Given the description of an element on the screen output the (x, y) to click on. 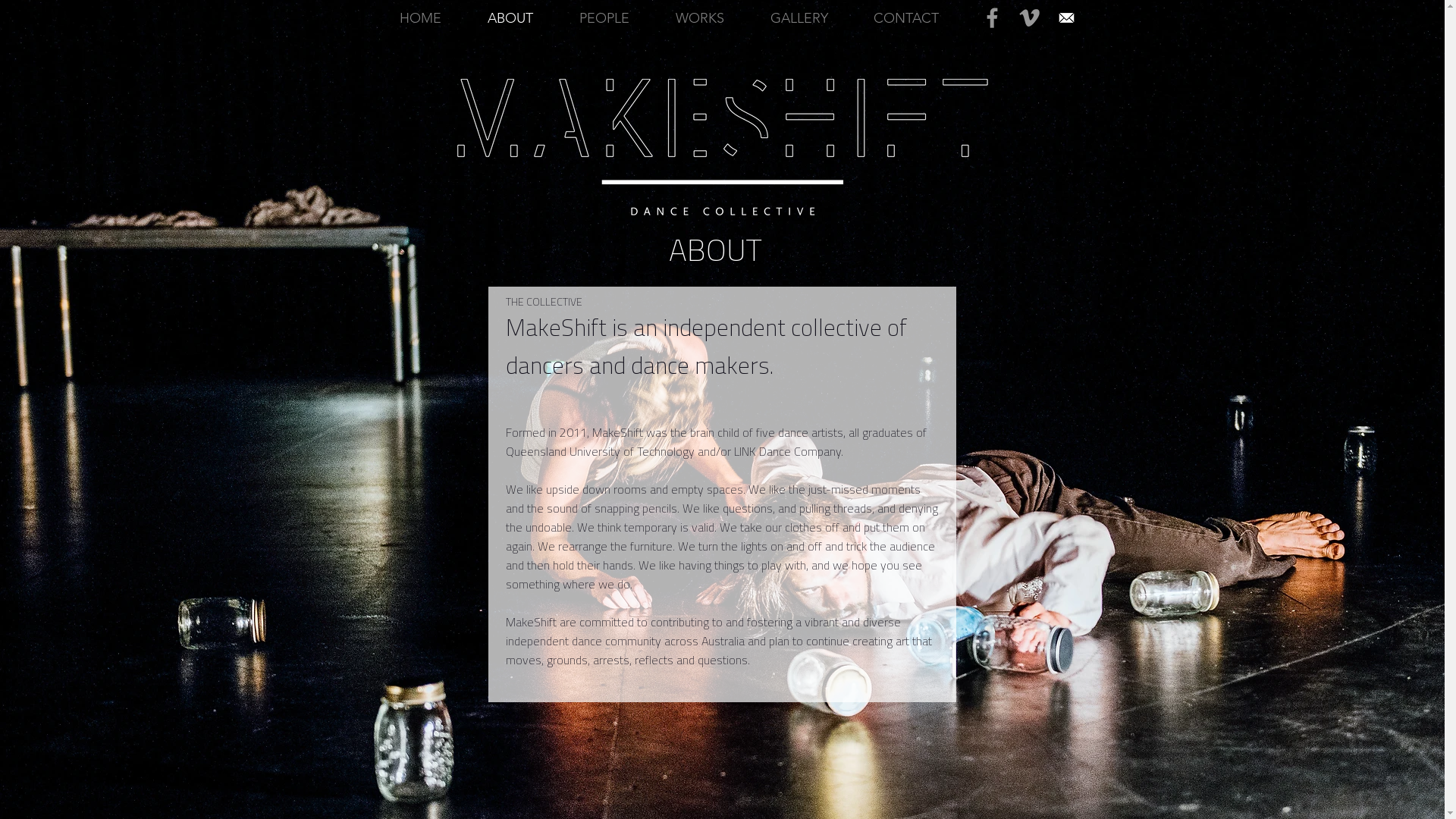
HOME Element type: text (420, 18)
PEOPLE Element type: text (604, 18)
CONTACT Element type: text (905, 18)
GALLERY Element type: text (798, 18)
WORKS Element type: text (699, 18)
ABOUT Element type: text (509, 18)
